Given the description of an element on the screen output the (x, y) to click on. 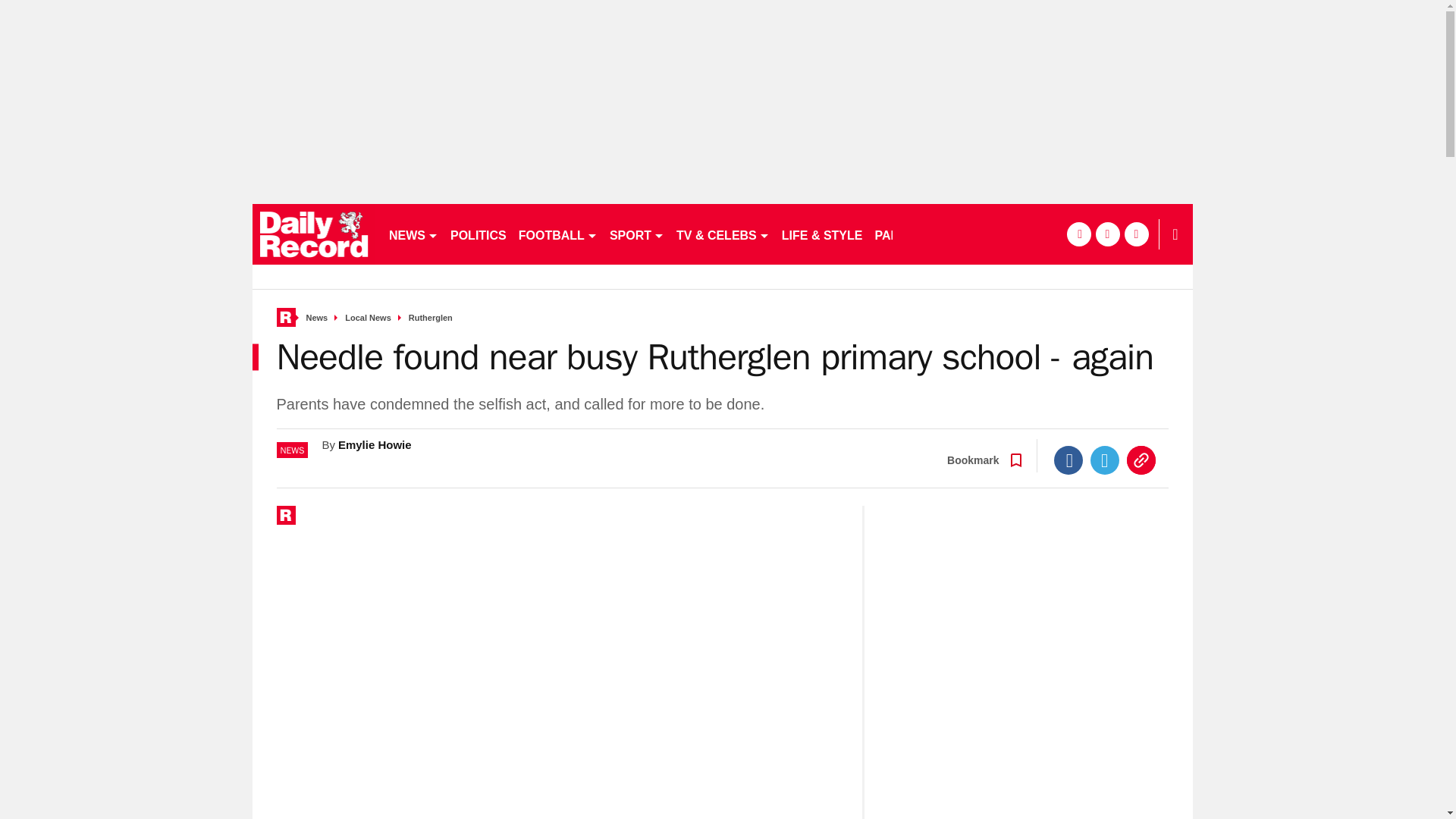
instagram (1136, 233)
twitter (1106, 233)
Twitter (1104, 460)
dailyrecord (313, 233)
Facebook (1068, 460)
facebook (1077, 233)
POLITICS (478, 233)
SPORT (636, 233)
NEWS (413, 233)
FOOTBALL (558, 233)
